Given the description of an element on the screen output the (x, y) to click on. 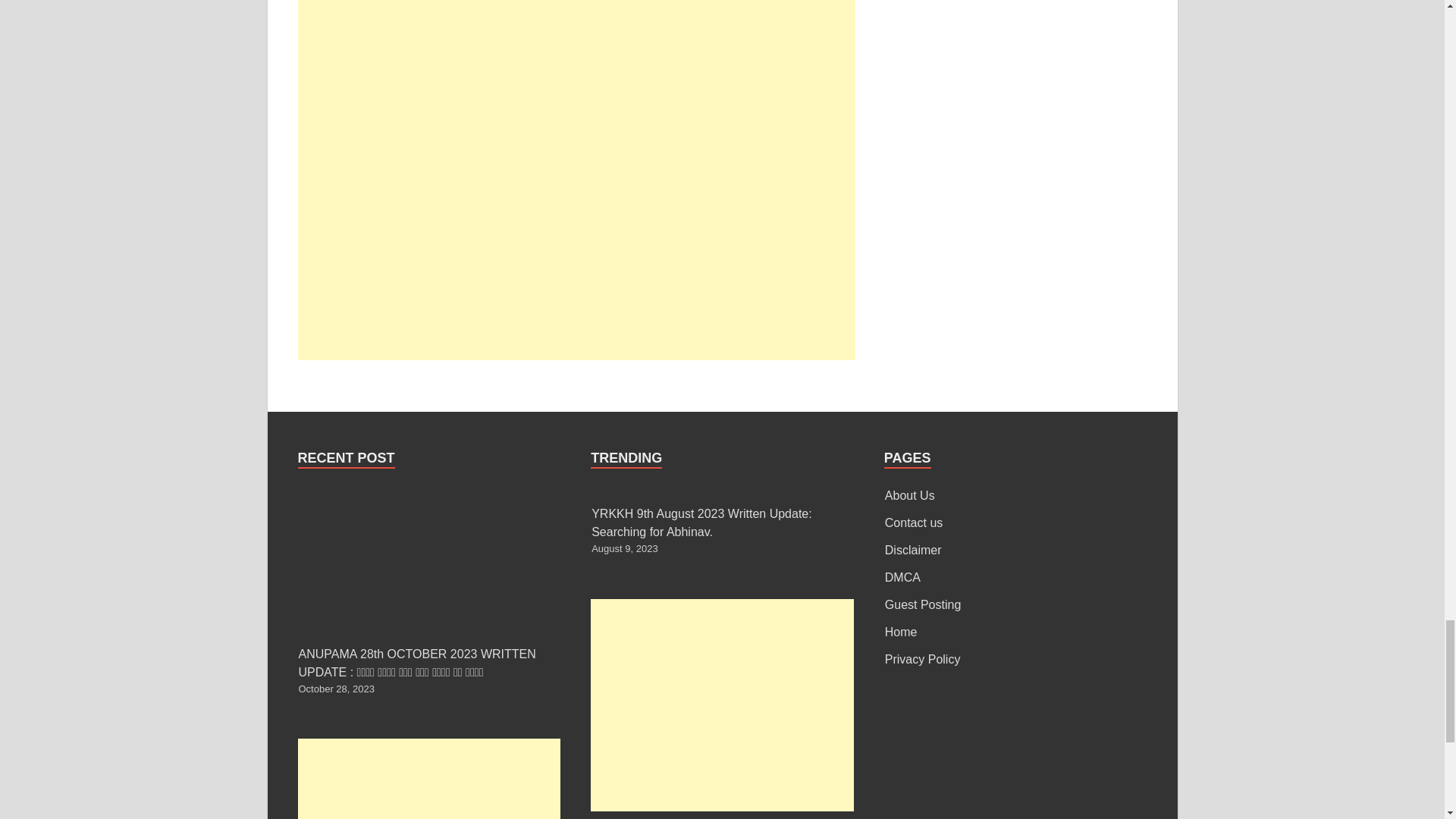
YRKKH 9th August 2023 Written Update: Searching for Abhinav. (701, 522)
About Us (909, 495)
